Given the description of an element on the screen output the (x, y) to click on. 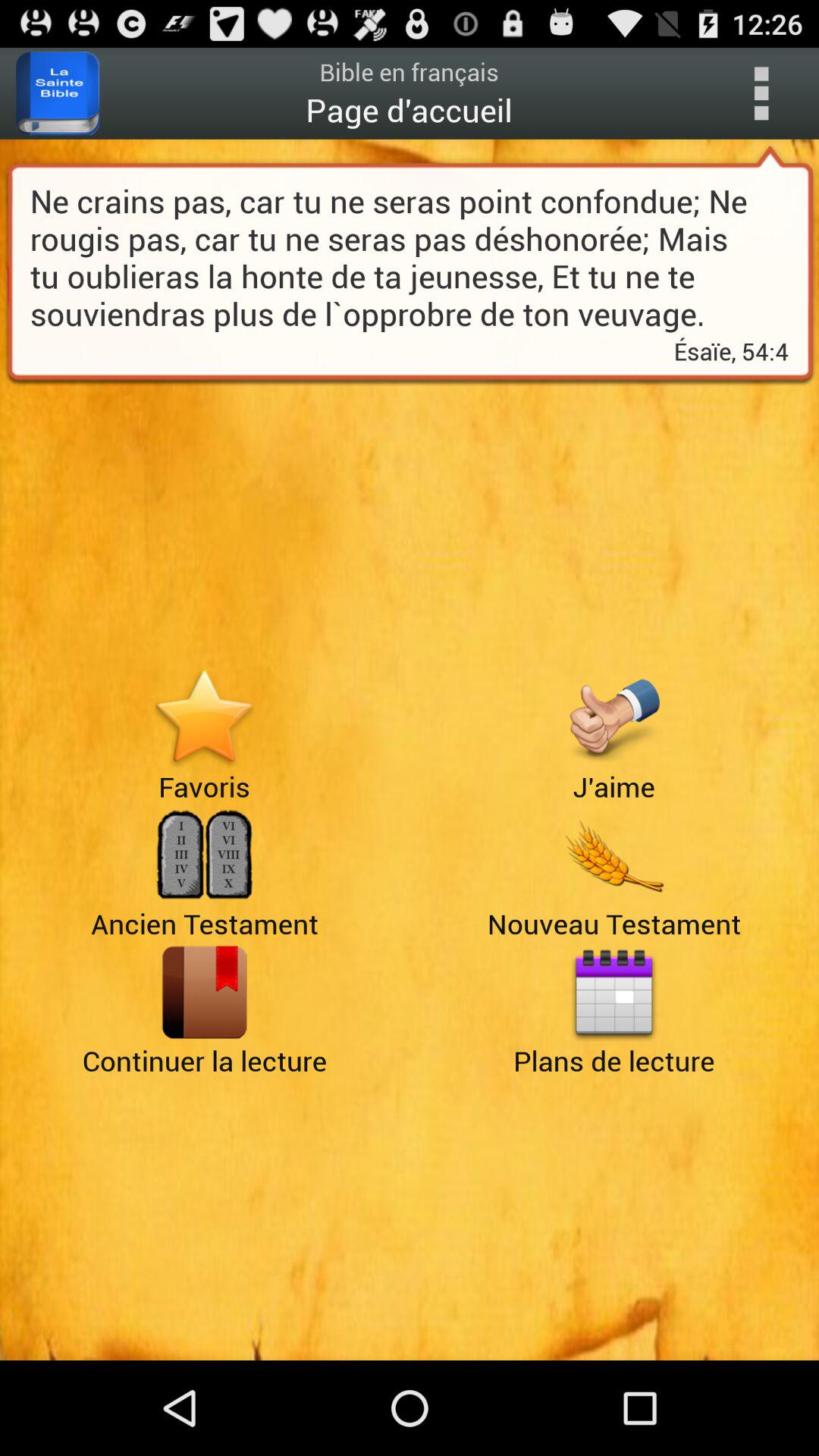
oppation (761, 93)
